Given the description of an element on the screen output the (x, y) to click on. 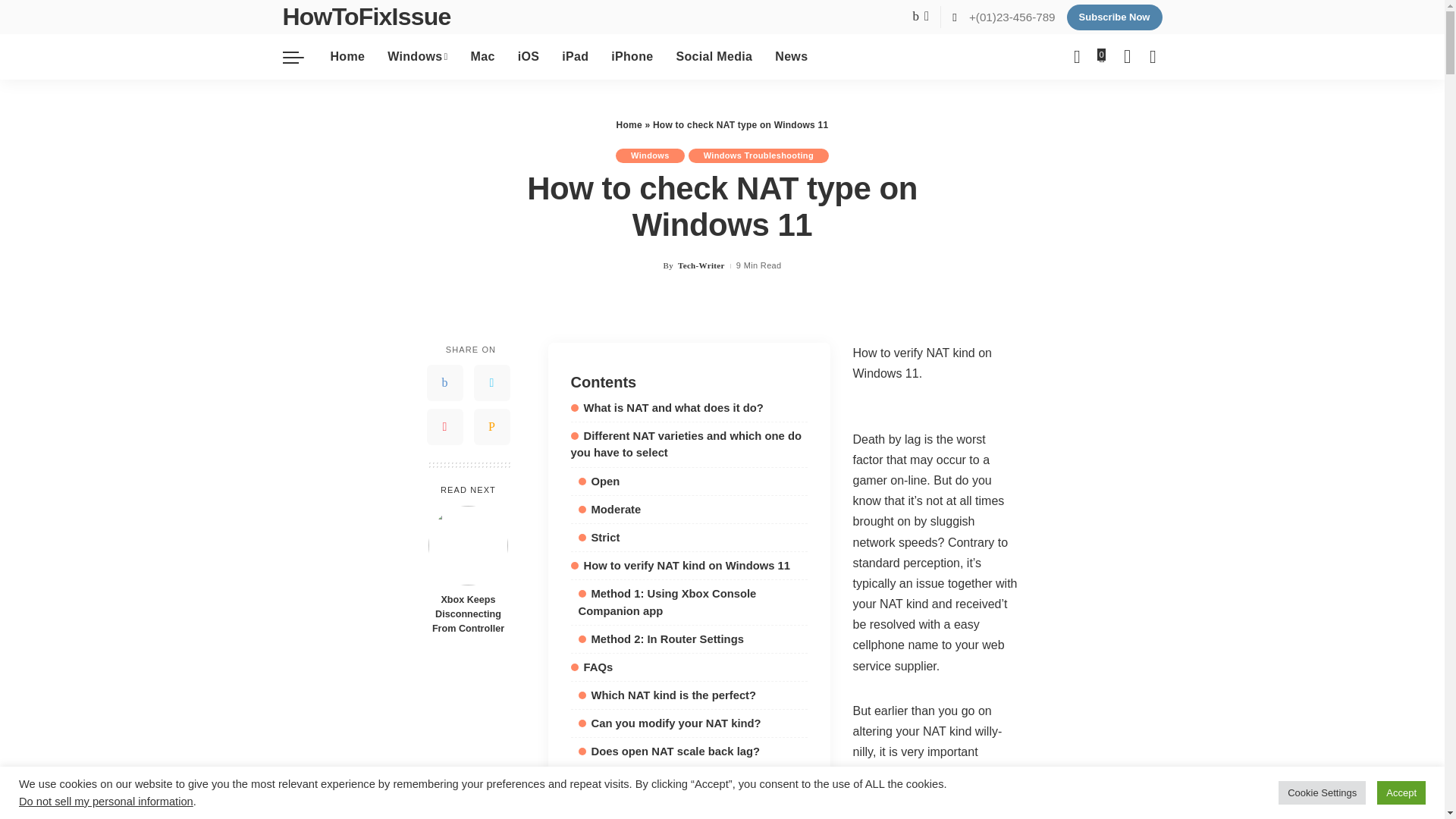
Facebook (444, 382)
Pinterest (444, 426)
Email (491, 426)
HowToFixIssue (365, 17)
Twitter (491, 382)
